Given the description of an element on the screen output the (x, y) to click on. 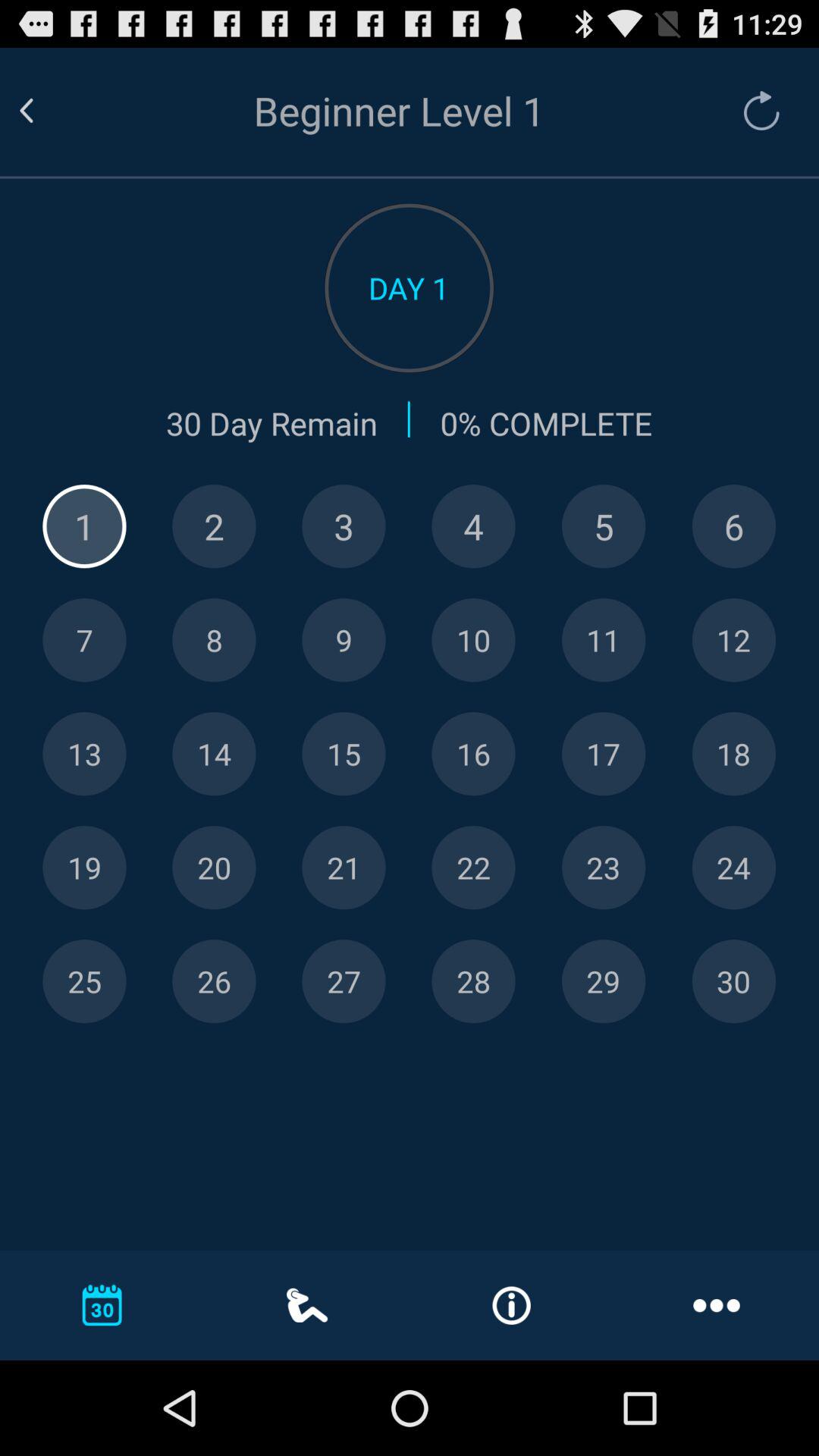
let you look at that specific day (473, 981)
